Given the description of an element on the screen output the (x, y) to click on. 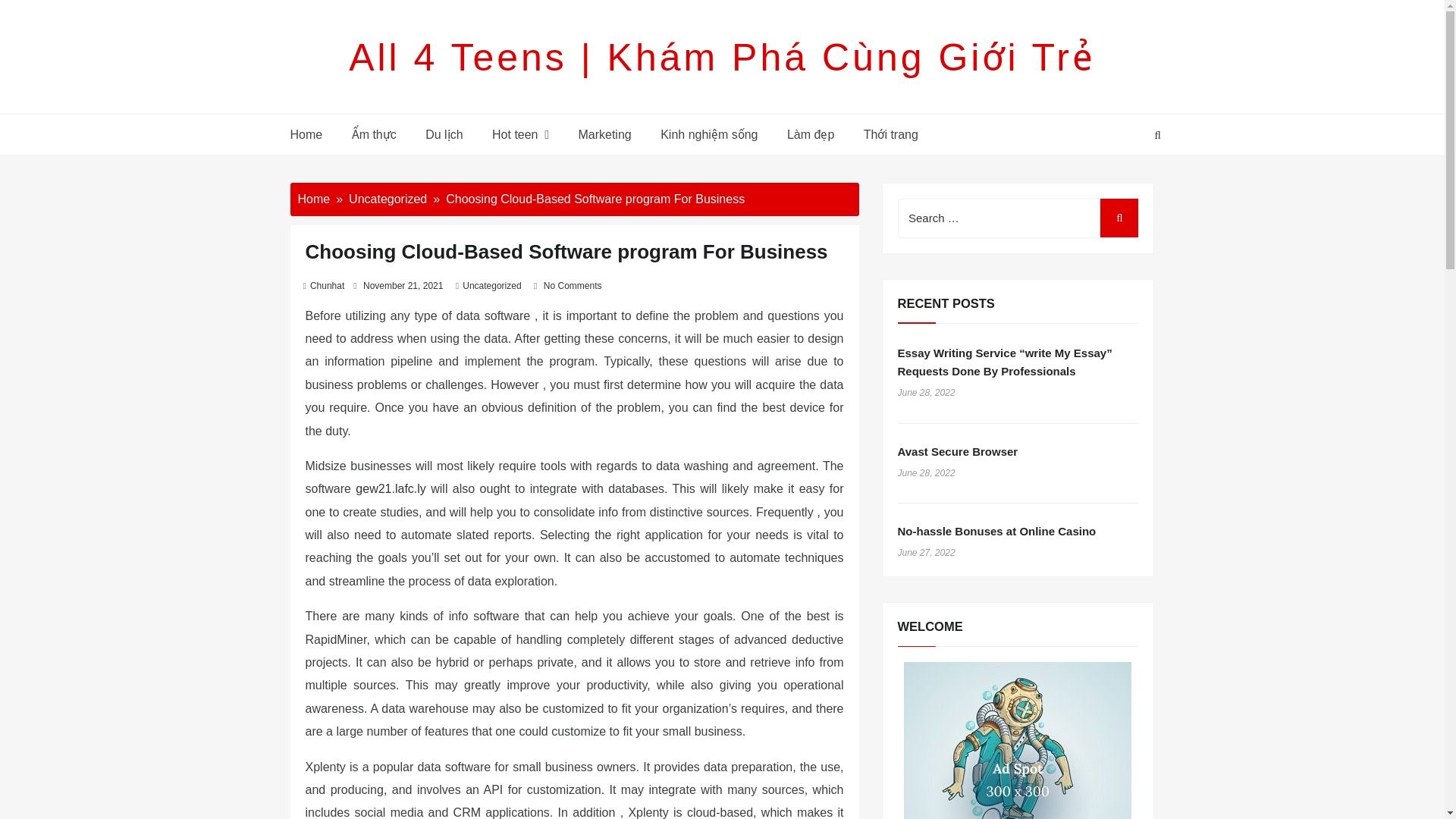
Home (311, 134)
Home (313, 198)
Marketing (603, 134)
Uncategorized (492, 285)
Chunhat (326, 285)
No Comments (572, 285)
gew21.lafc.ly (390, 488)
Hot teen (520, 134)
November 21, 2021 (402, 285)
Uncategorized (387, 198)
